Given the description of an element on the screen output the (x, y) to click on. 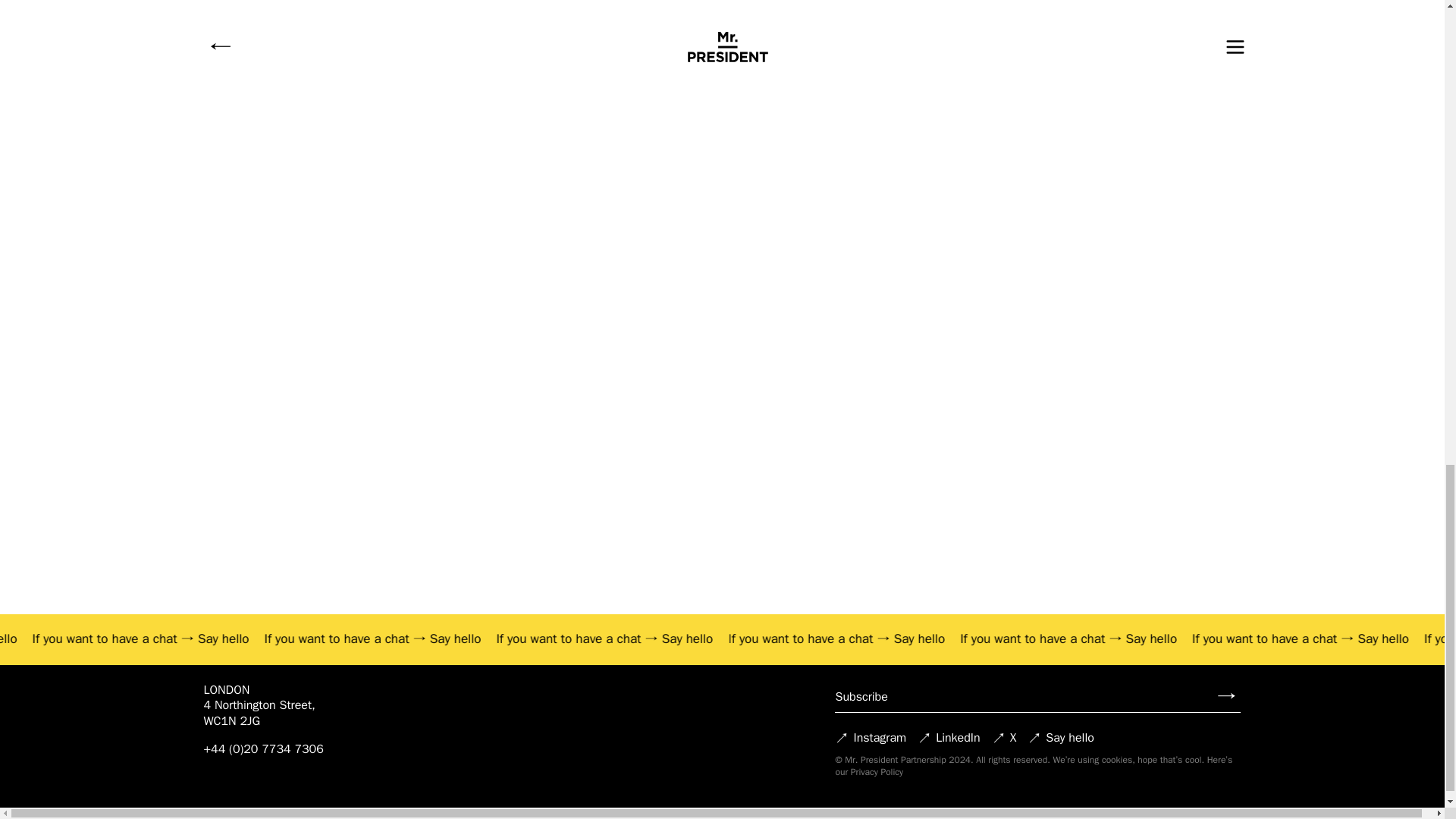
Say hello (1093, 638)
Say hello (1323, 638)
Say hello (177, 638)
Say hello (406, 638)
Say hello (634, 638)
Say hello (863, 638)
